Given the description of an element on the screen output the (x, y) to click on. 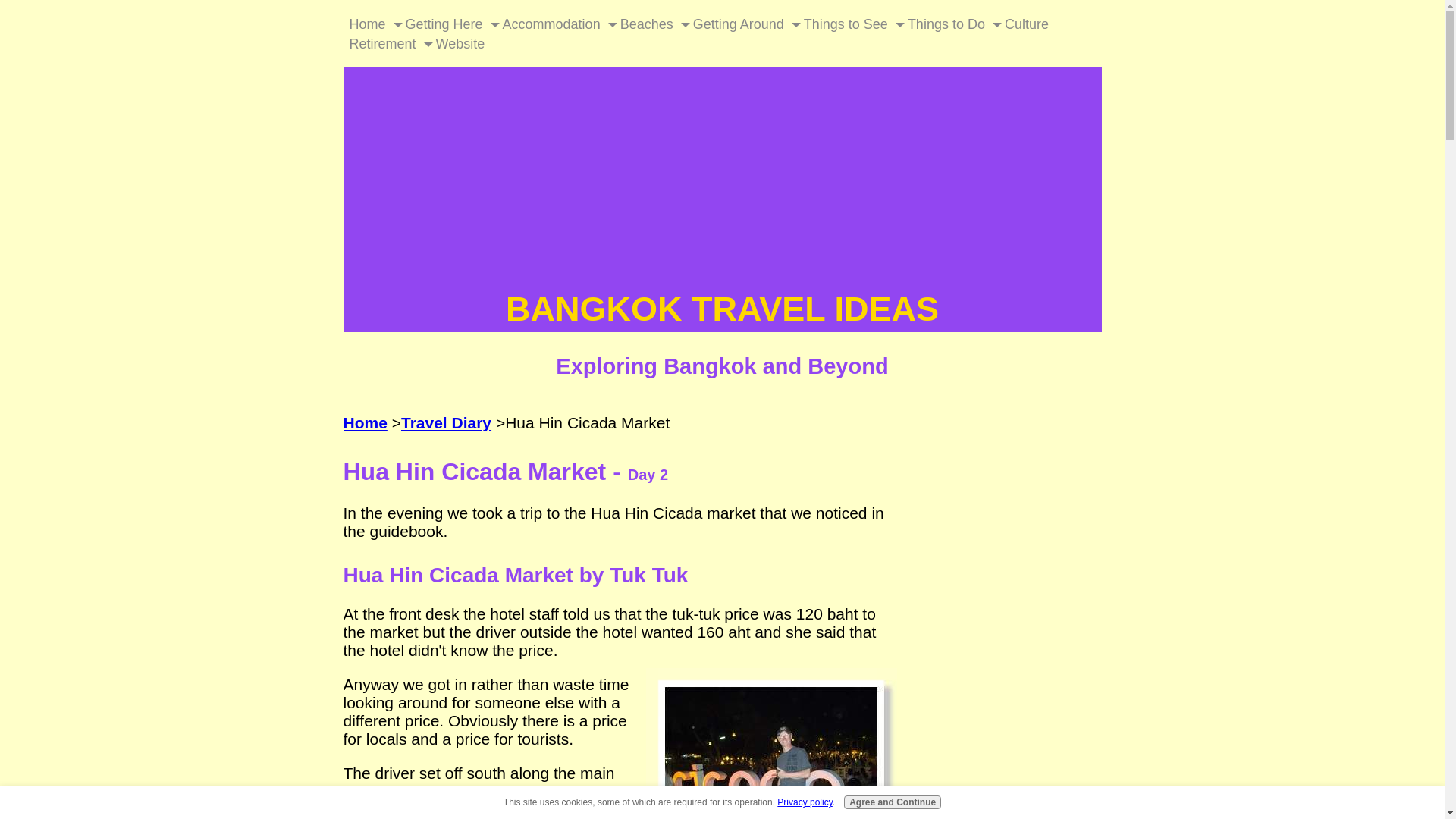
Outside Cicada Market in near Khao Takieb (771, 743)
Home (366, 24)
Retirement (382, 44)
BANGKOK TRAVEL IDEAS (722, 308)
